Given the description of an element on the screen output the (x, y) to click on. 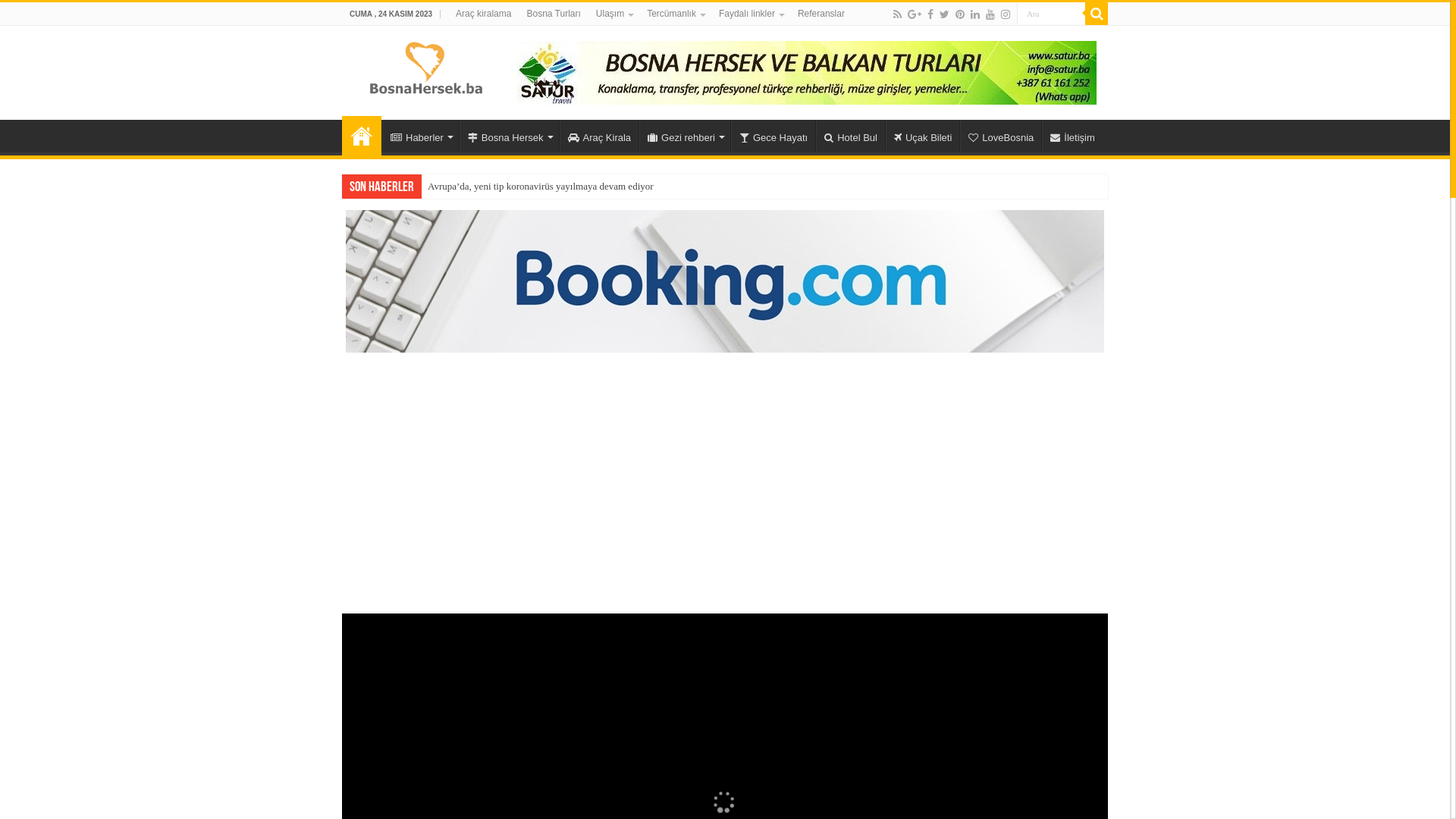
LoveBosnia Element type: text (1000, 135)
Rss Element type: hover (897, 14)
Advertisement Element type: hover (724, 473)
Facebook Element type: hover (930, 14)
Ara Element type: hover (1050, 13)
LinkedIn Element type: hover (975, 14)
Youtube Element type: hover (990, 14)
Haberler Element type: text (420, 135)
Ana Sayfa Element type: text (361, 135)
Google+ Element type: hover (914, 14)
Ara Element type: text (1096, 13)
Hotel Bul Element type: text (849, 135)
Online Rezervasyon Yap Element type: hover (724, 279)
Satur TRAVEL Bosna Hersek Element type: hover (803, 71)
Referanslar Element type: text (821, 13)
Twitter Element type: hover (944, 14)
Bosnahersek.ba Element type: hover (424, 66)
Gezi rehberi Element type: text (684, 135)
instagram Element type: hover (1005, 14)
Pinterest Element type: hover (959, 14)
Bosna Hersek Element type: text (508, 135)
